Given the description of an element on the screen output the (x, y) to click on. 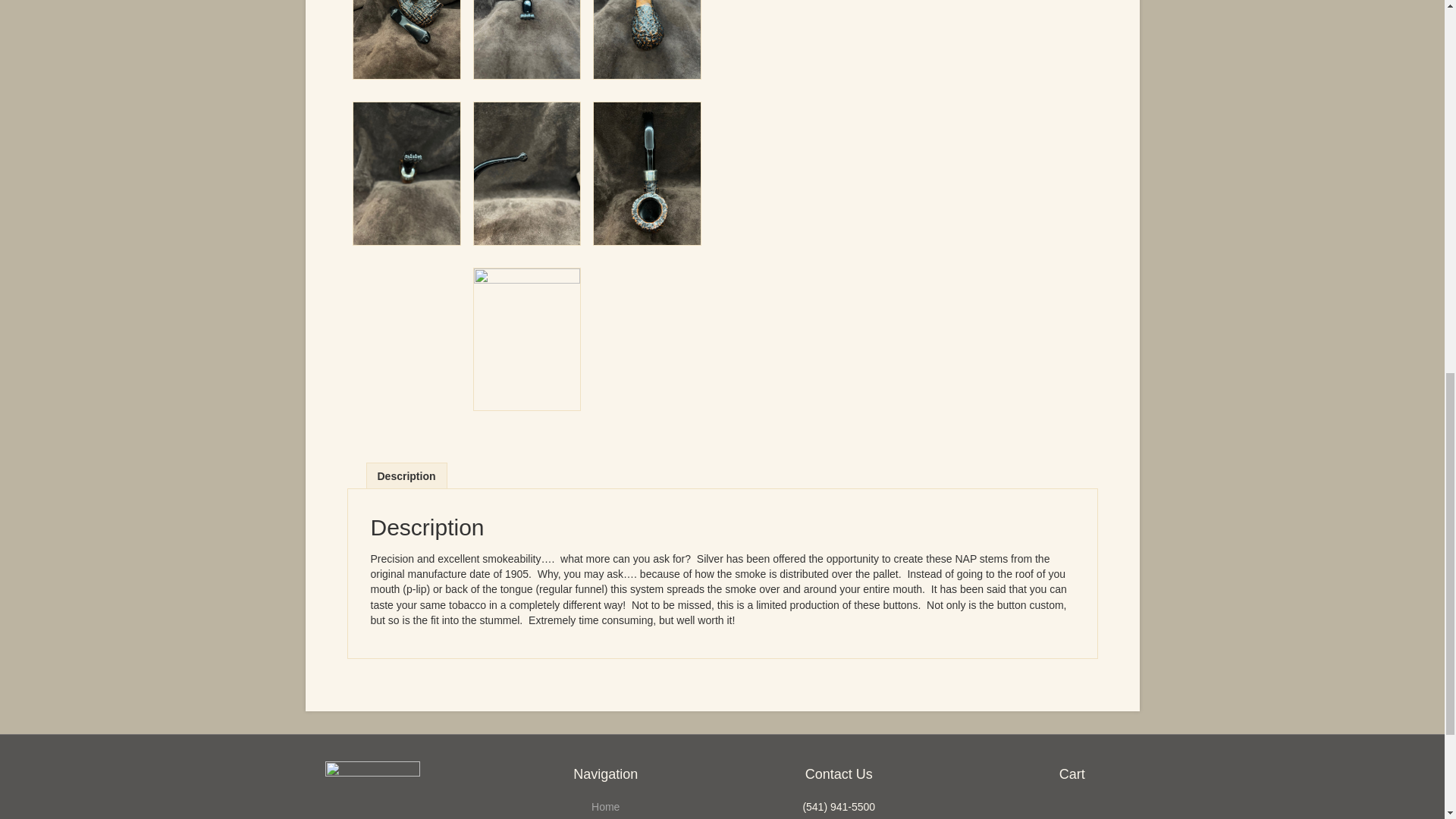
Description (406, 475)
Home (605, 806)
